Given the description of an element on the screen output the (x, y) to click on. 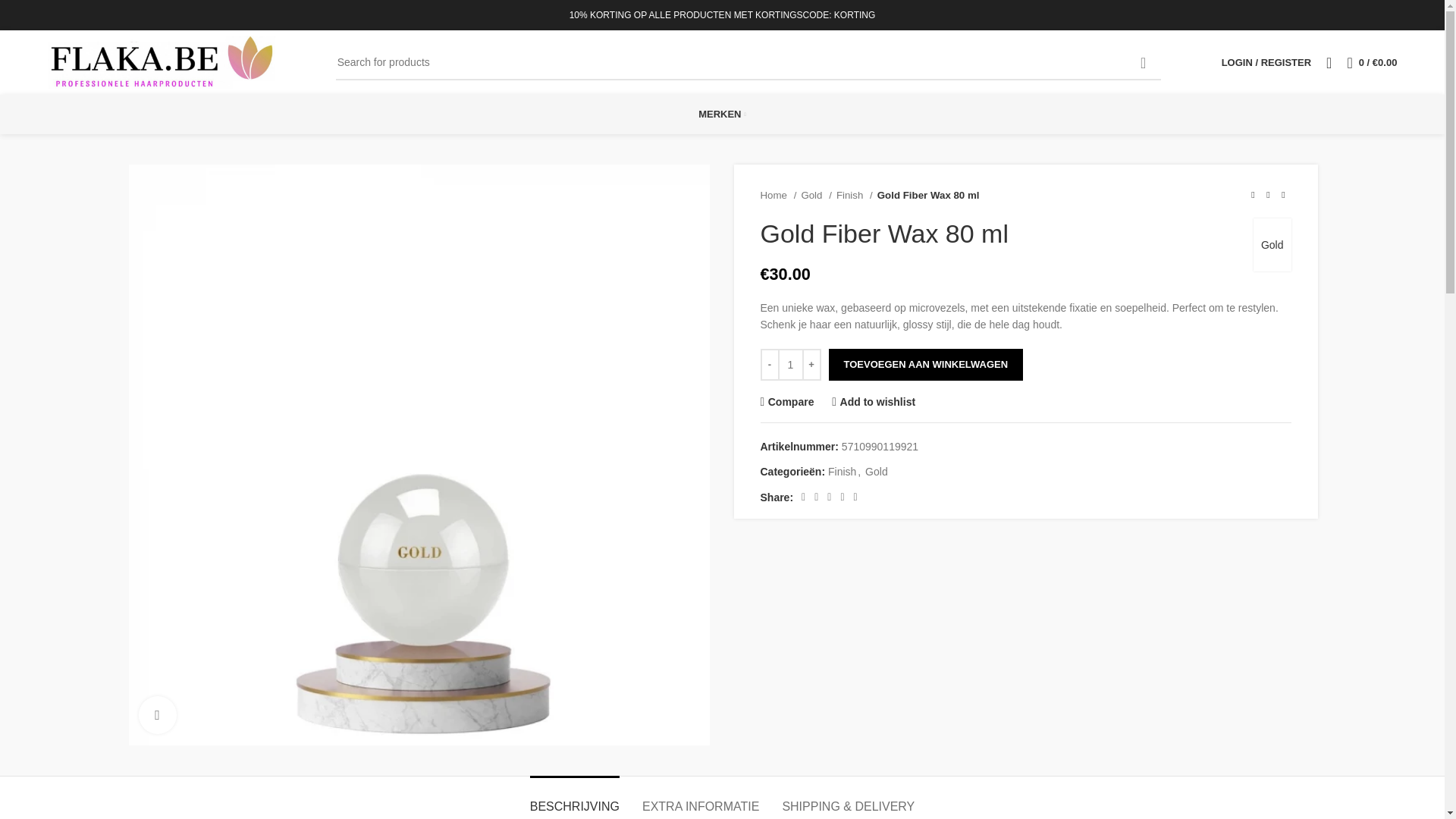
MERKEN (721, 114)
SEARCH (1142, 62)
Search for products (748, 62)
Shopping cart (1372, 61)
My account (1266, 61)
